Given the description of an element on the screen output the (x, y) to click on. 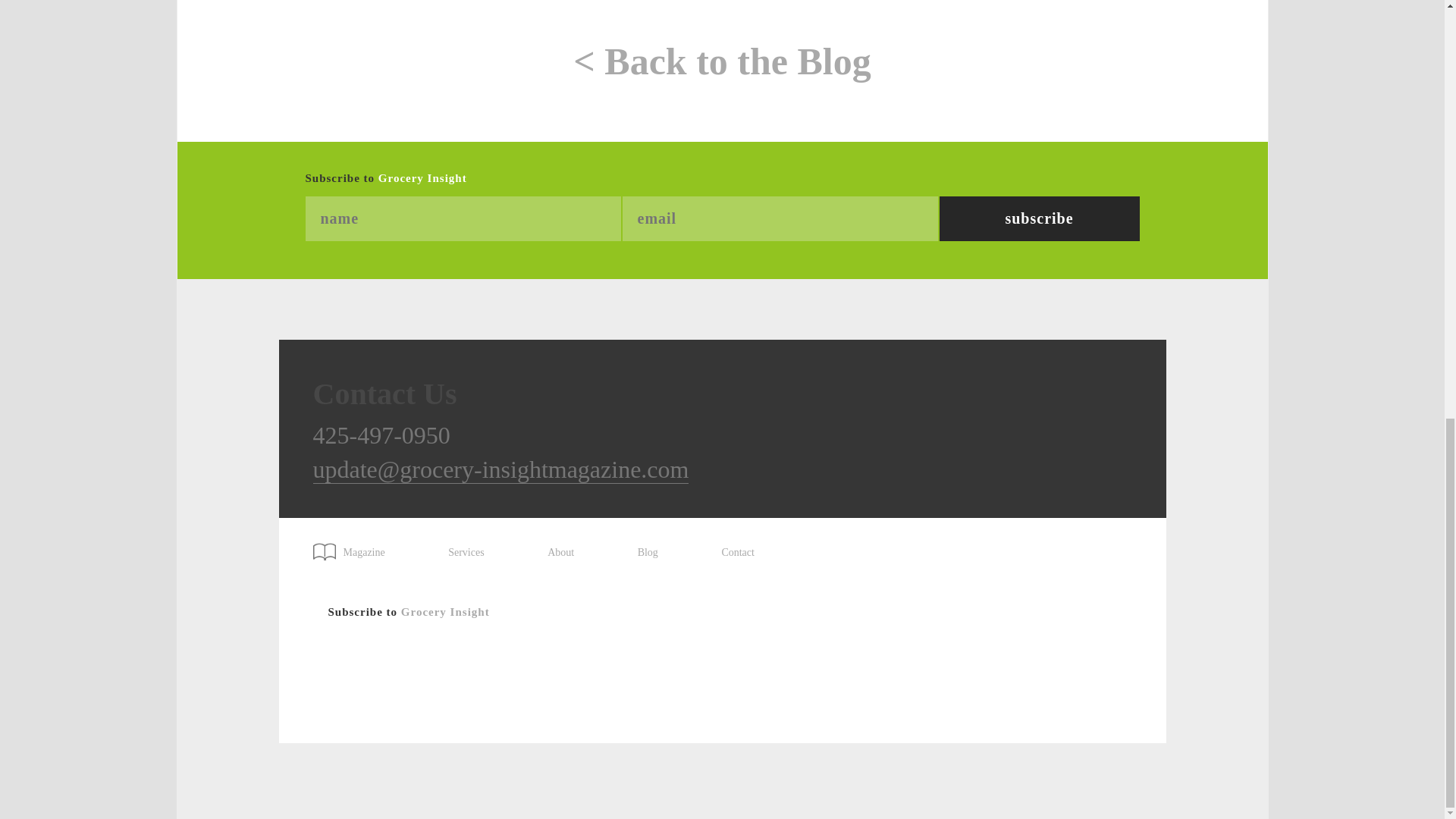
Subscribe (1038, 218)
Services (465, 552)
Blog (647, 552)
Magazine (355, 546)
Contact (737, 552)
Subscribe (1038, 218)
About (560, 552)
